Given the description of an element on the screen output the (x, y) to click on. 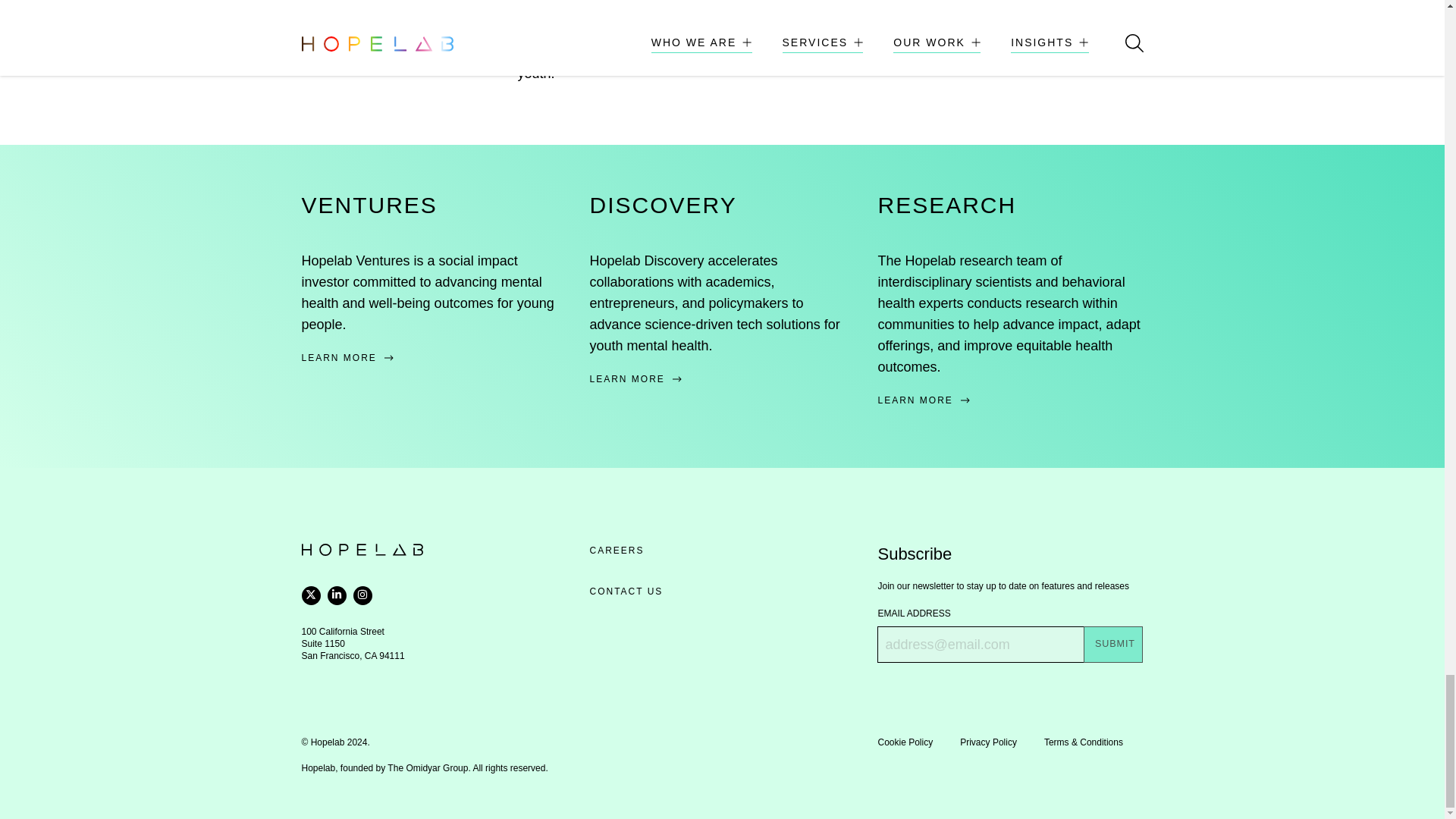
LEARN MORE (434, 357)
LEARN MORE (721, 378)
VENTURES (369, 204)
RESEARCH (946, 204)
DISCOVERY (662, 204)
